Given the description of an element on the screen output the (x, y) to click on. 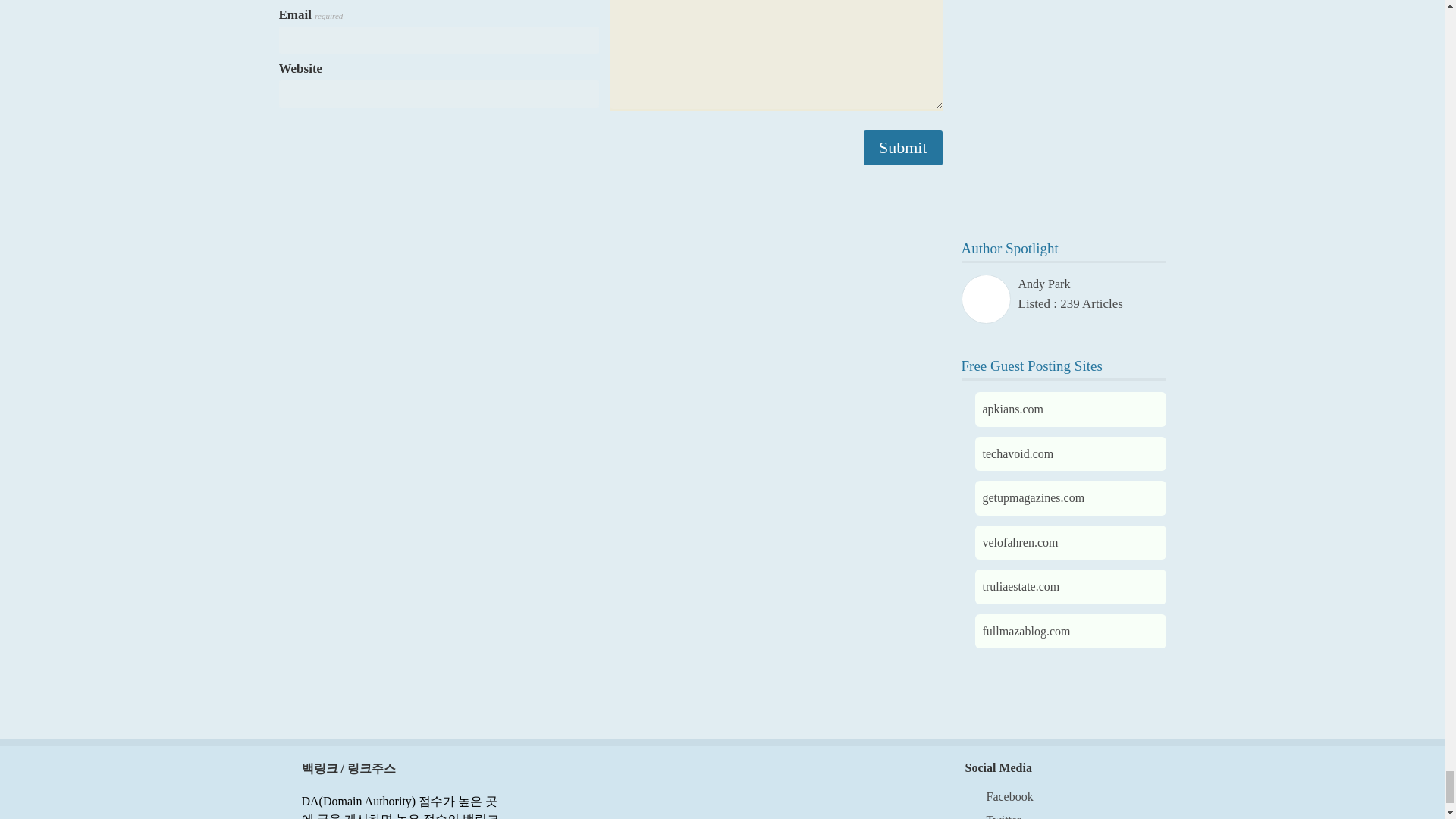
Submit (902, 147)
